Given the description of an element on the screen output the (x, y) to click on. 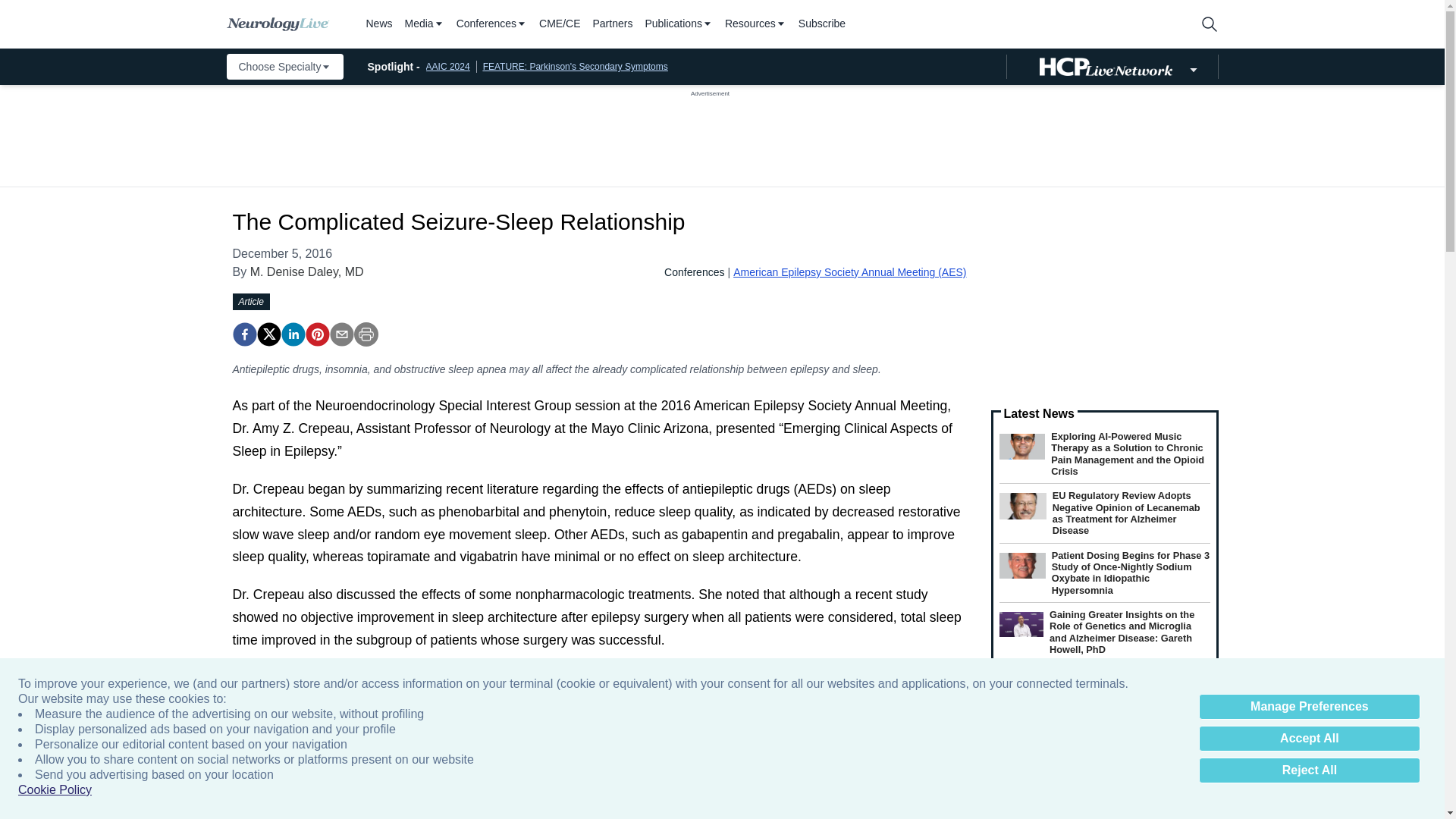
News (378, 23)
Publications (679, 23)
Partners (612, 23)
Cookie Policy (54, 789)
Media (424, 23)
Reject All (1309, 769)
Conferences (492, 23)
The Complicated Seizure-Sleep Relationship (243, 334)
Accept All (1309, 738)
Resources (755, 23)
